Given the description of an element on the screen output the (x, y) to click on. 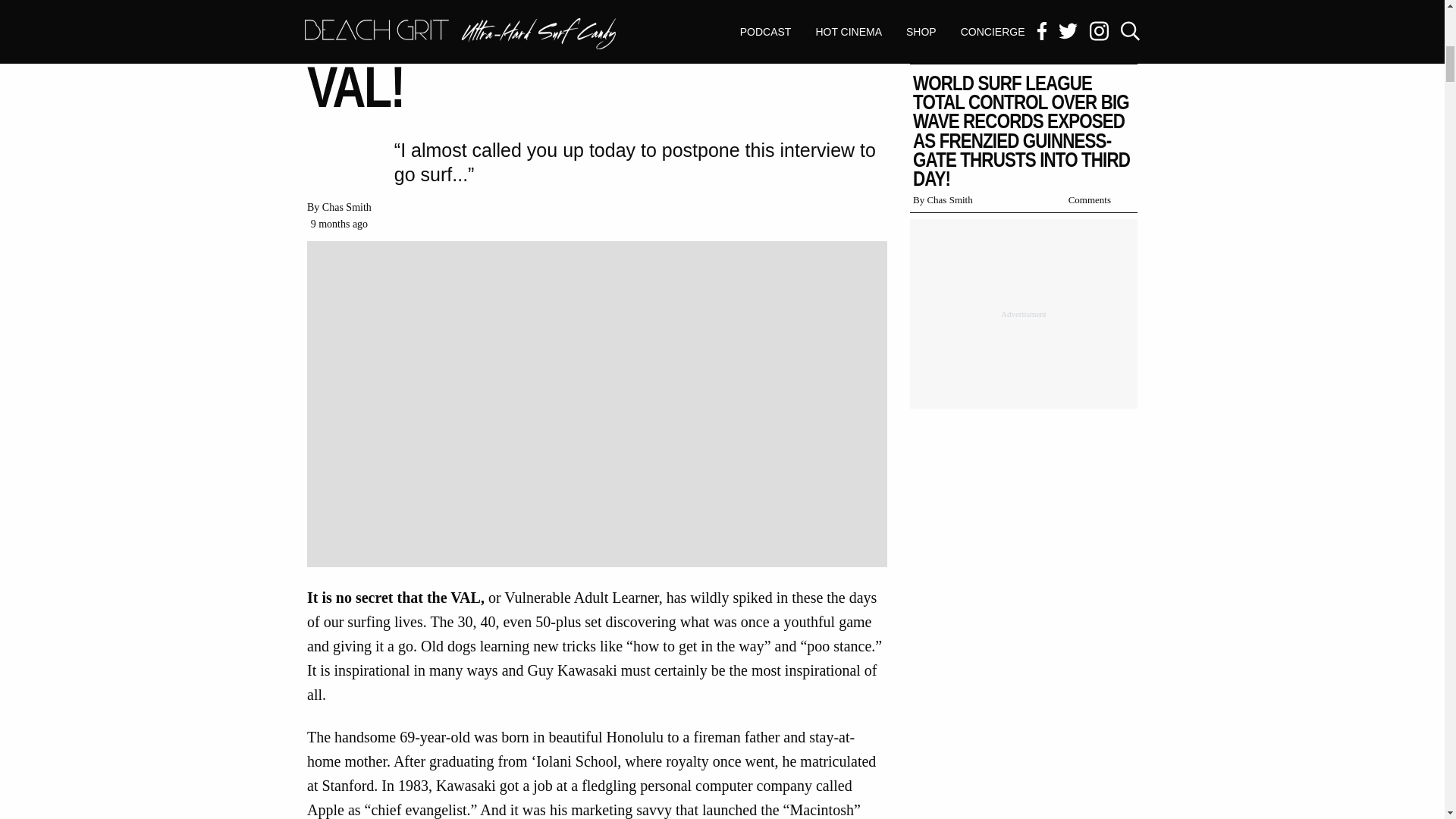
Chas Smith (346, 206)
